Given the description of an element on the screen output the (x, y) to click on. 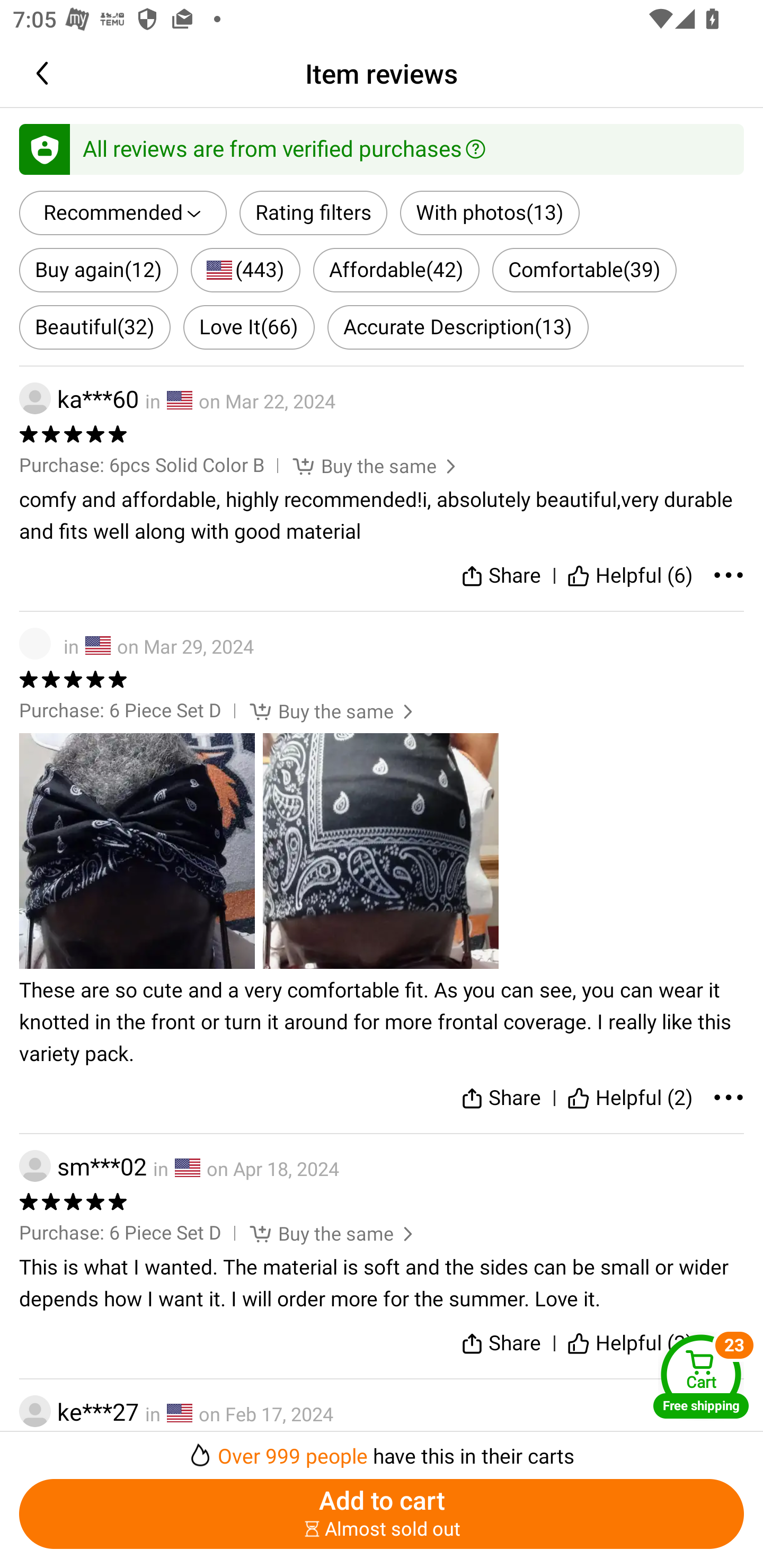
Item reviews (381, 72)
All reviews are from verified purchases  (381, 148)
Recommended (122, 213)
Rating filters (313, 213)
With photos(13) (489, 213)
Buy again(12) (98, 269)
(443) (245, 269)
Affordable(42) (395, 269)
Comfortable(39) (584, 269)
Beautiful(32) (94, 327)
Love It(66) (248, 327)
Accurate Description(13) (458, 327)
ka***60 (78, 398)
   Buy the same   (362, 465)
  Share (500, 576)
  Helpful (6) (629, 576)
in￼on Mar 29, 2024 (381, 643)
   Buy the same   (319, 709)
  Share (500, 1098)
  Helpful (2) (629, 1098)
sm***02 in￼on Apr 18, 2024 (381, 1165)
   Buy the same   (319, 1232)
  Share (500, 1342)
  Helpful (2) (629, 1342)
Cart Free shipping Cart (701, 1375)
ke***27 in￼on Feb 17, 2024 (381, 1410)
￼￼Over 999 people have this in their carts (381, 1450)
Add to cart ￼￼Almost sold out (381, 1513)
